Given the description of an element on the screen output the (x, y) to click on. 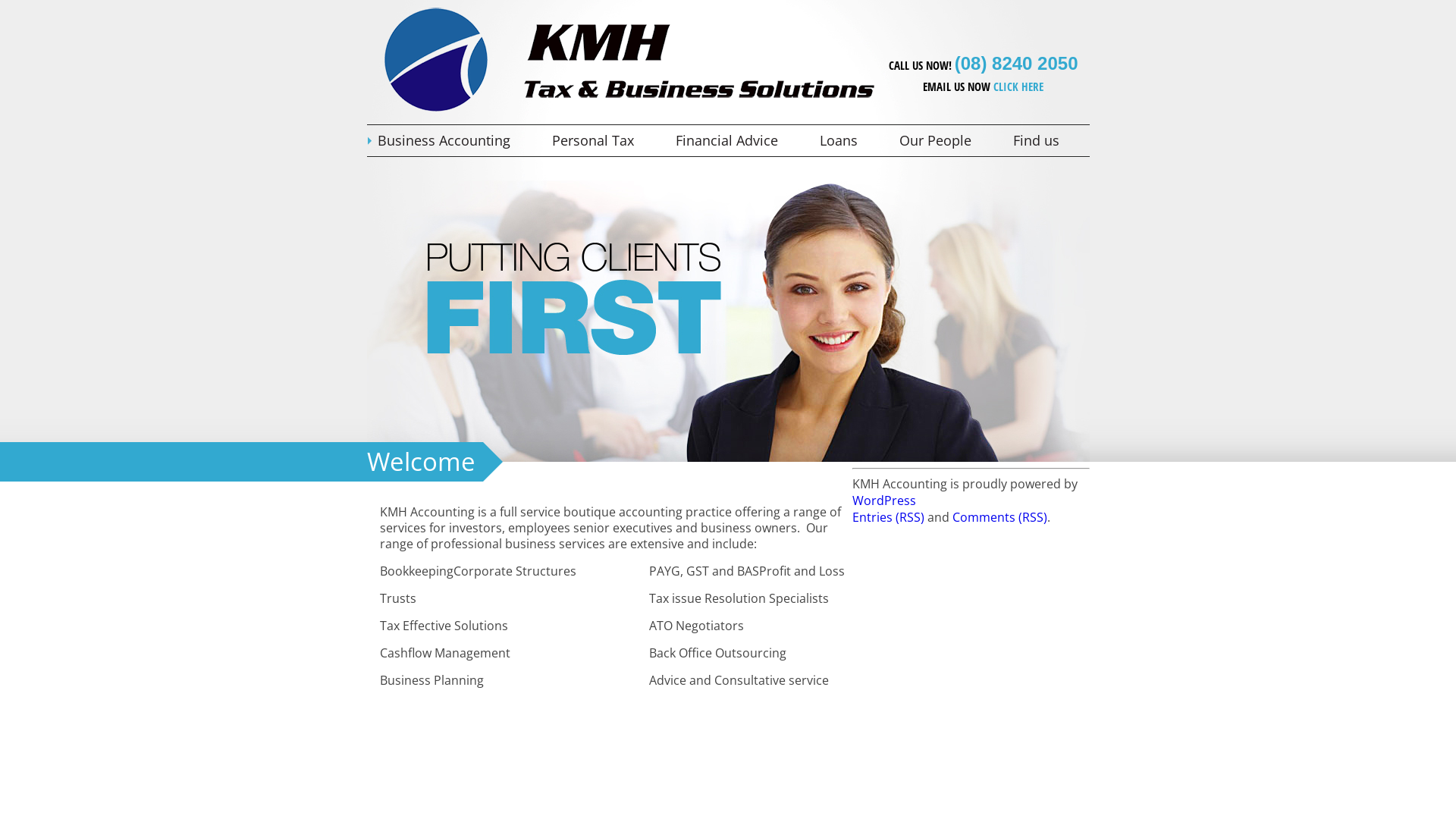
Loans Element type: text (847, 140)
Personal Tax Element type: text (602, 140)
CLICK HERE Element type: text (1018, 86)
KMH Accounting Element type: hover (629, 110)
Financial Advice Element type: text (735, 140)
Business Accounting Element type: text (453, 140)
Entries (RSS) Element type: text (888, 516)
WordPress Element type: text (884, 500)
Find us Element type: text (1045, 140)
Comments (RSS) Element type: text (999, 516)
Our People Element type: text (944, 140)
